Given the description of an element on the screen output the (x, y) to click on. 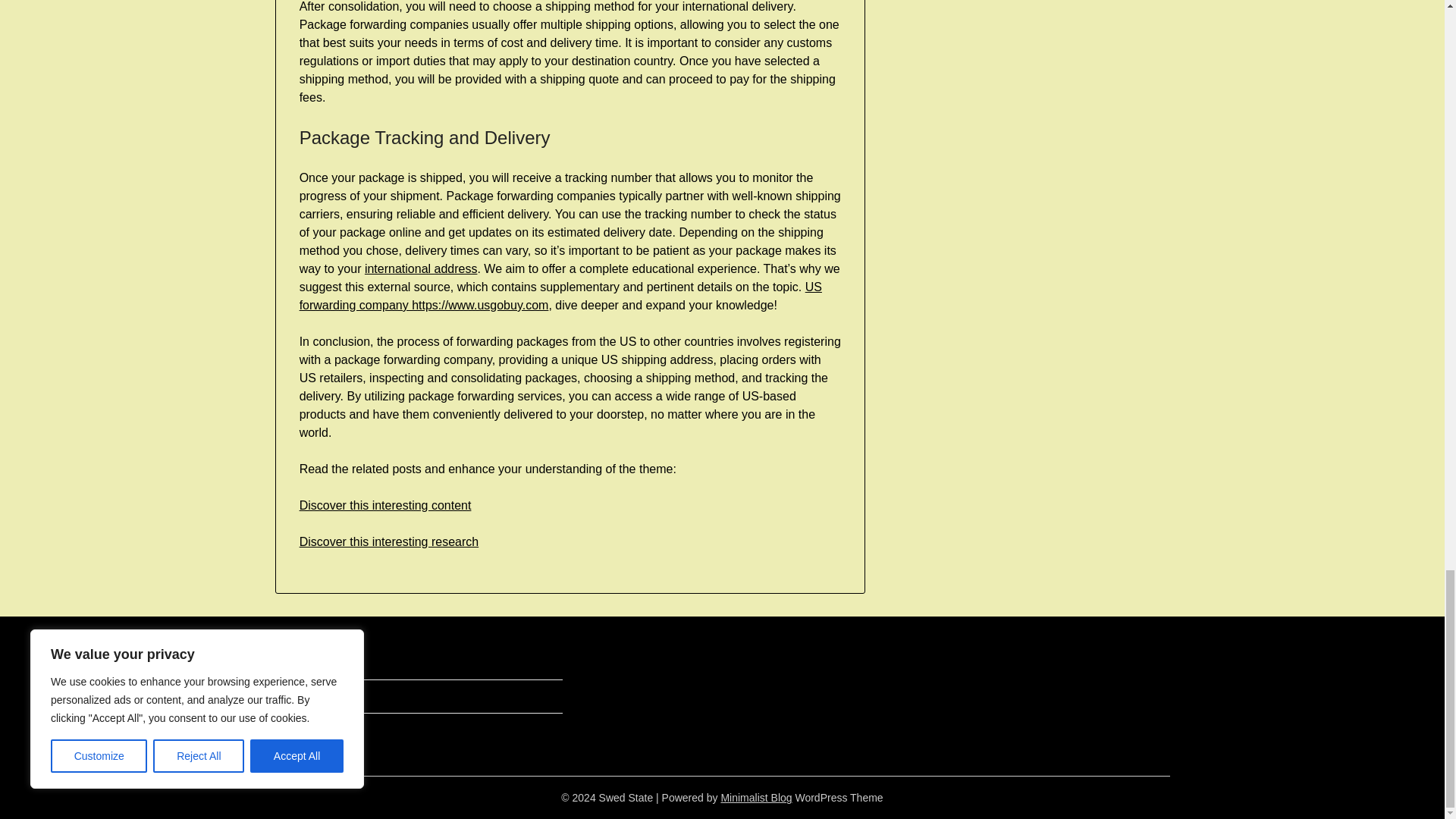
Discover this interesting content (385, 504)
Discover this interesting research (389, 541)
international address (421, 268)
